Given the description of an element on the screen output the (x, y) to click on. 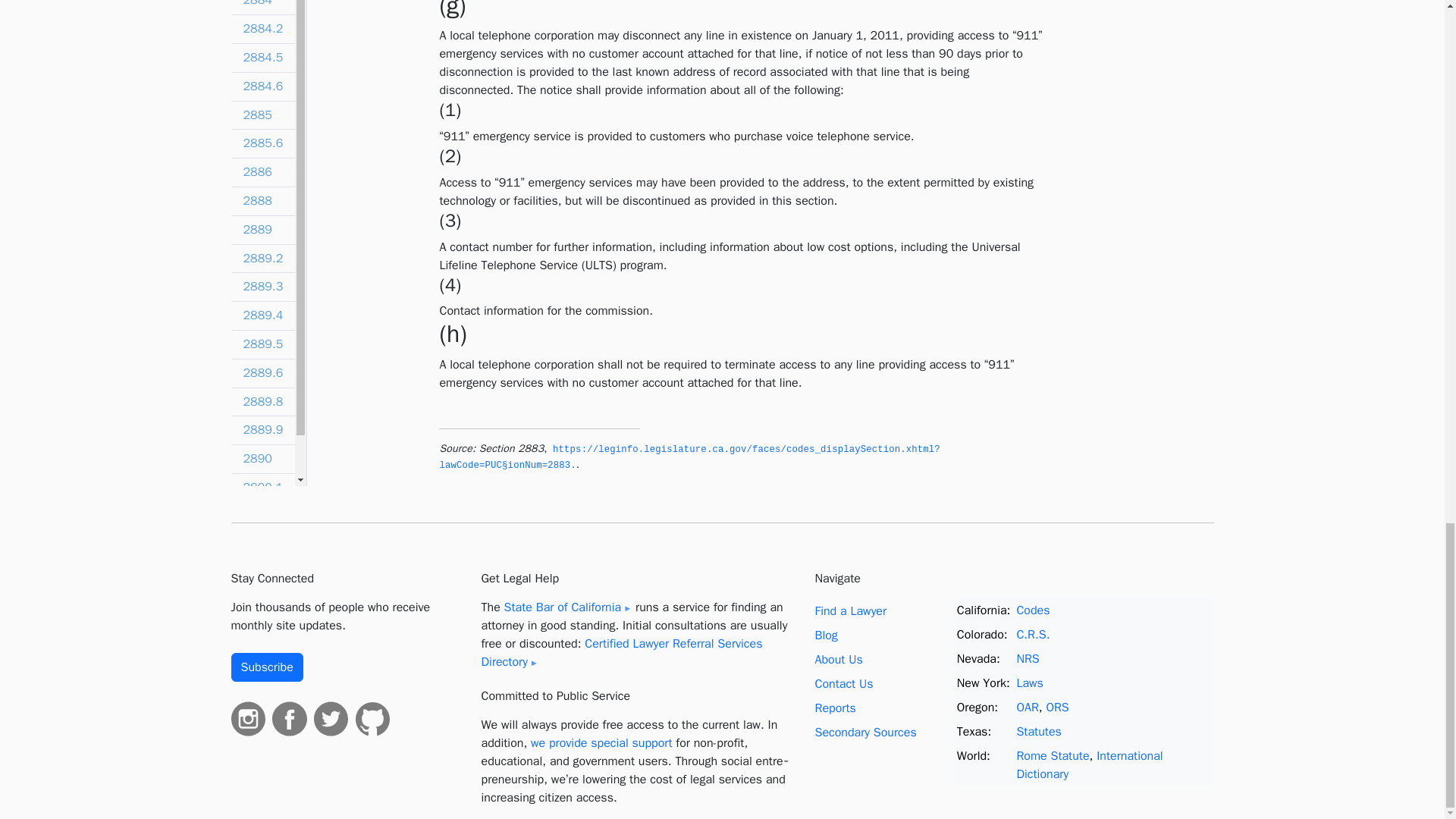
Subscribe (266, 666)
